Given the description of an element on the screen output the (x, y) to click on. 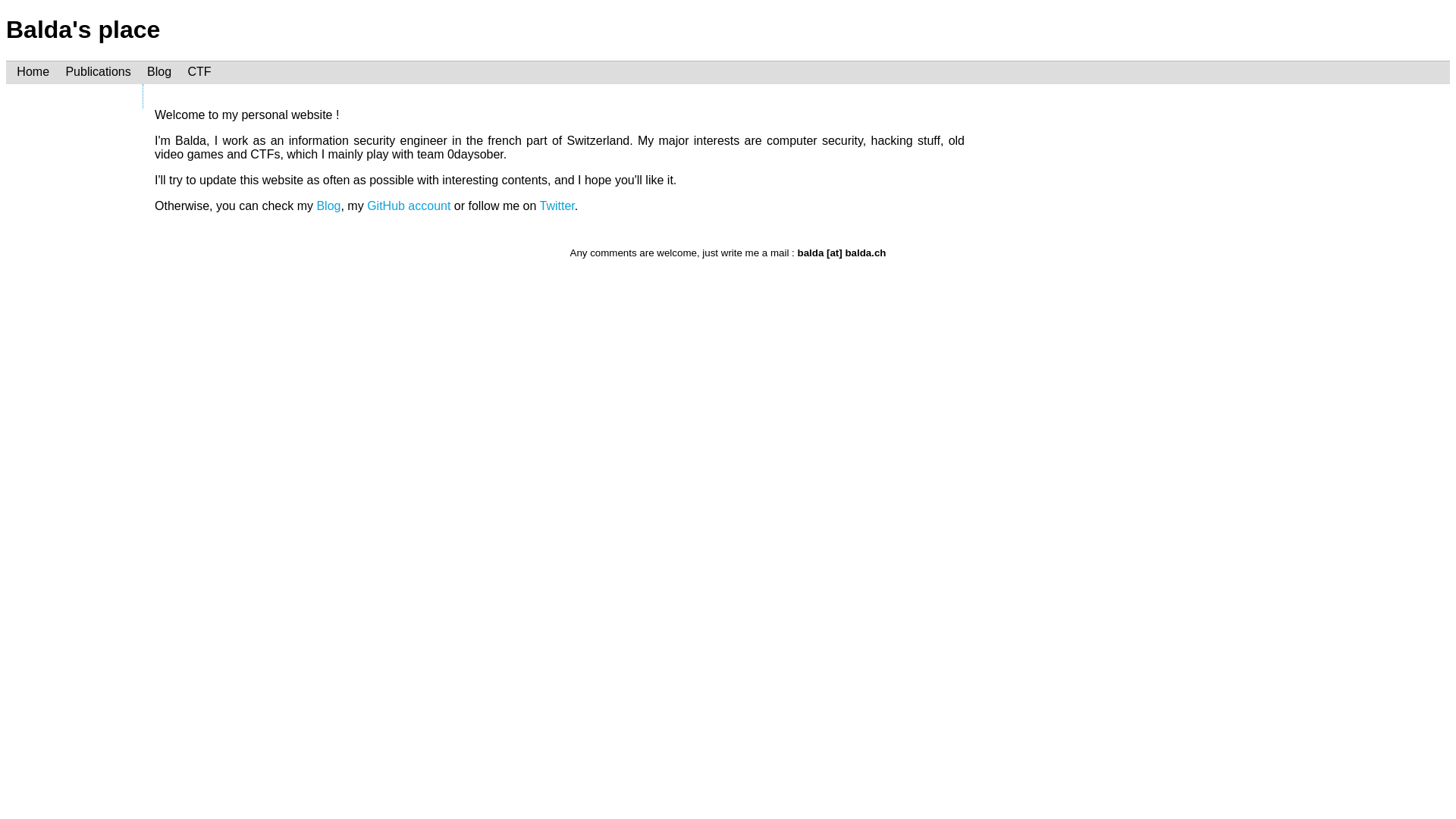
CTF Element type: text (199, 71)
Twitter Element type: text (556, 205)
Blog Element type: text (159, 71)
Blog Element type: text (328, 205)
Publications Element type: text (98, 71)
Home Element type: text (33, 71)
GitHub account Element type: text (408, 205)
